Given the description of an element on the screen output the (x, y) to click on. 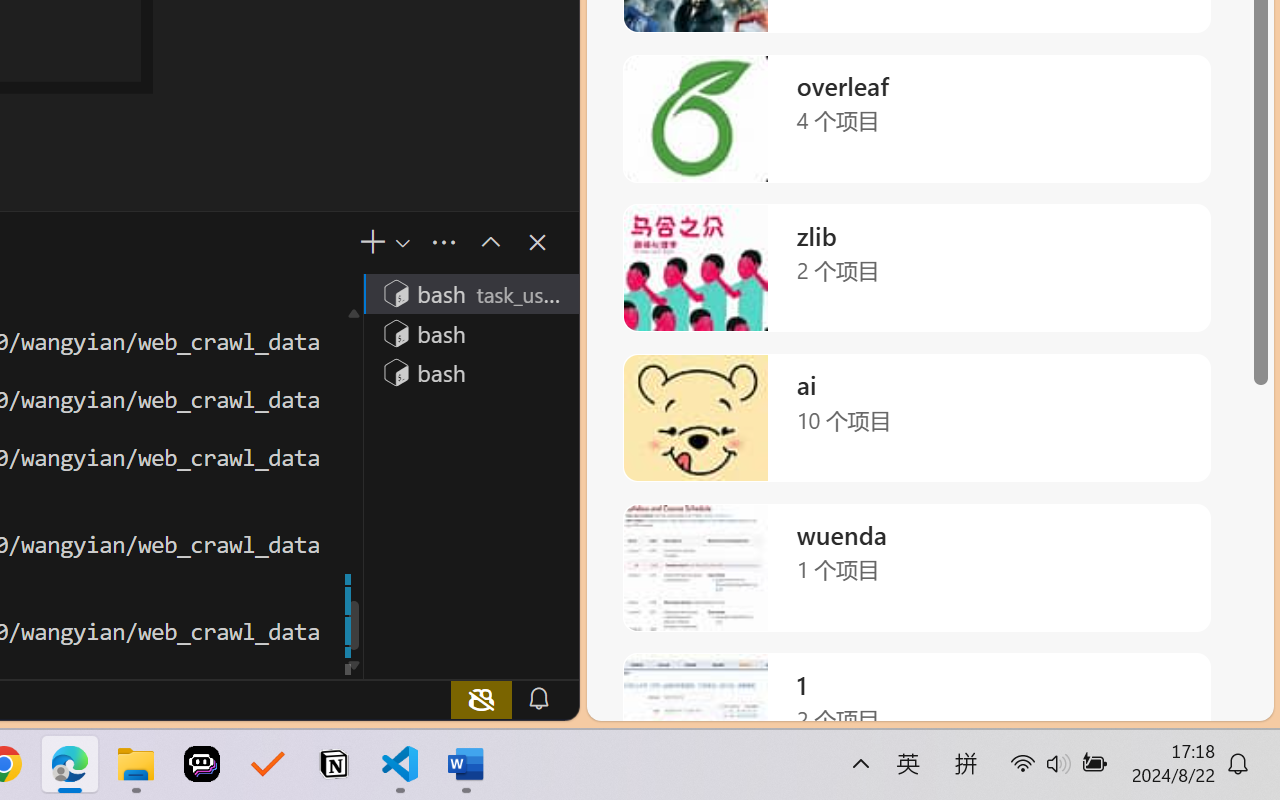
Notifications (537, 698)
Class: actions-container (516, 242)
Close Panel (535, 242)
copilot-notconnected, Copilot error (click for details) (481, 698)
Terminal 2 bash (470, 332)
Maximize Panel Size (488, 242)
Views and More Actions... (442, 243)
Launch Profile... (401, 243)
Terminal 1 bash (470, 292)
